Given the description of an element on the screen output the (x, y) to click on. 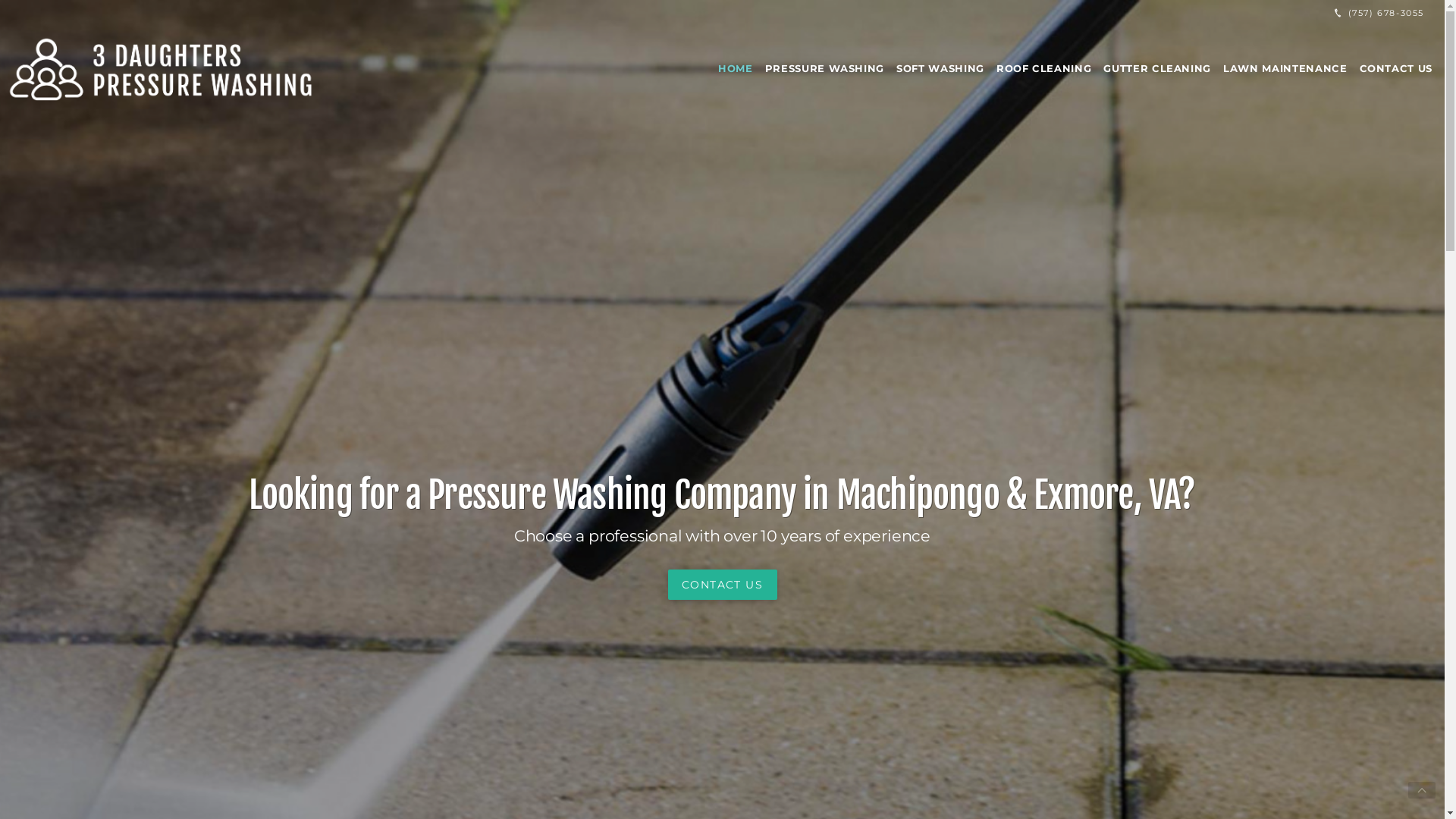
LAWN MAINTENANCE Element type: text (1284, 67)
HOME Element type: text (735, 67)
(757) 678-3055 Element type: text (1378, 13)
3 Daughters Pressure Washing Element type: hover (164, 68)
CONTACT US Element type: text (1395, 67)
PRESSURE WASHING Element type: text (824, 67)
ROOF CLEANING Element type: text (1043, 67)
SOFT WASHING Element type: text (940, 67)
GUTTER CLEANING Element type: text (1157, 67)
